Given the description of an element on the screen output the (x, y) to click on. 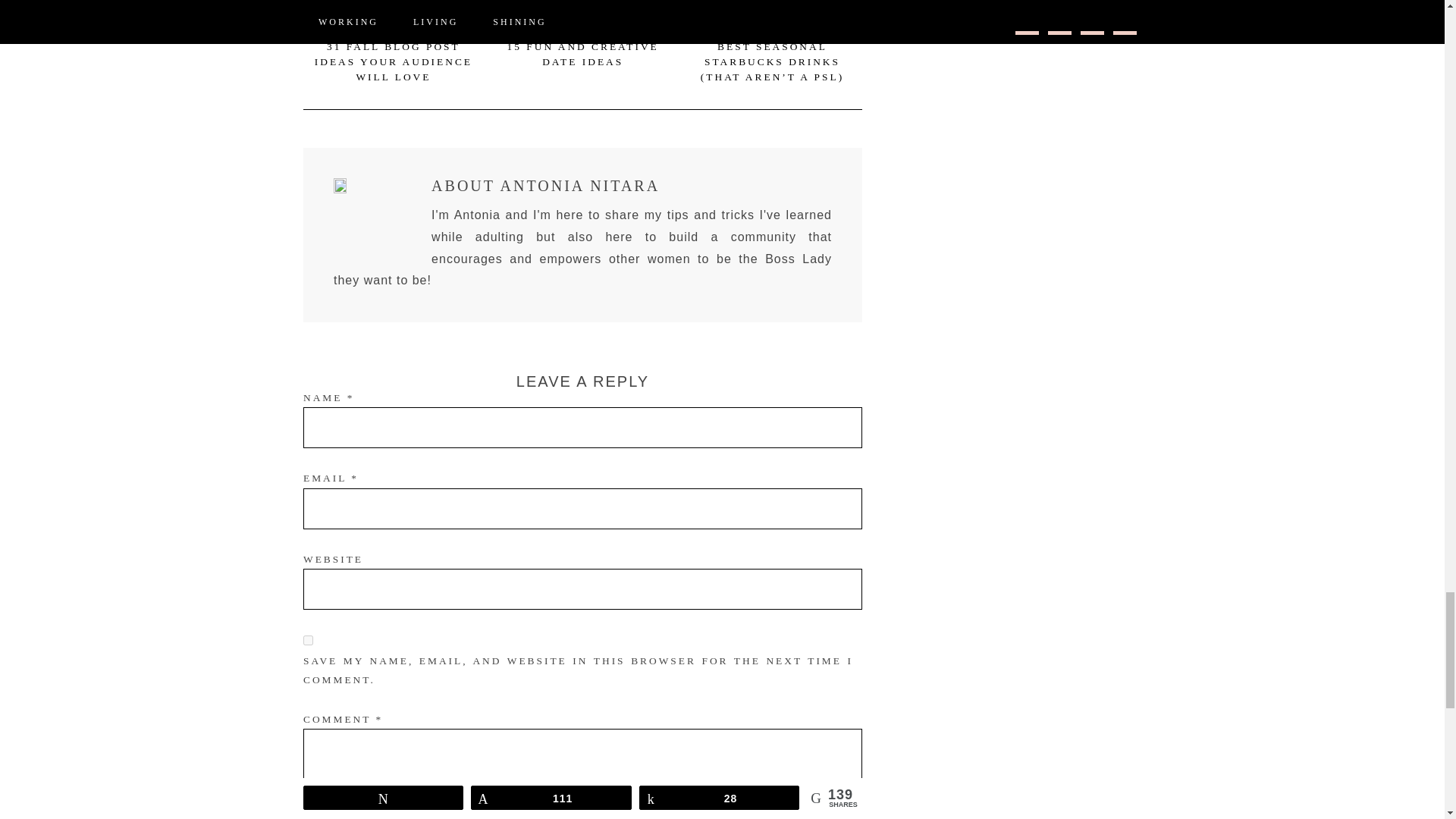
15 Fun and Creative Date Ideas (582, 15)
15 Fun and Creative Date Ideas (582, 53)
yes (307, 640)
31 Fall Blog Post Ideas Your Audience will Love (392, 61)
31 Fall Blog Post Ideas Your Audience will Love (392, 15)
